Given the description of an element on the screen output the (x, y) to click on. 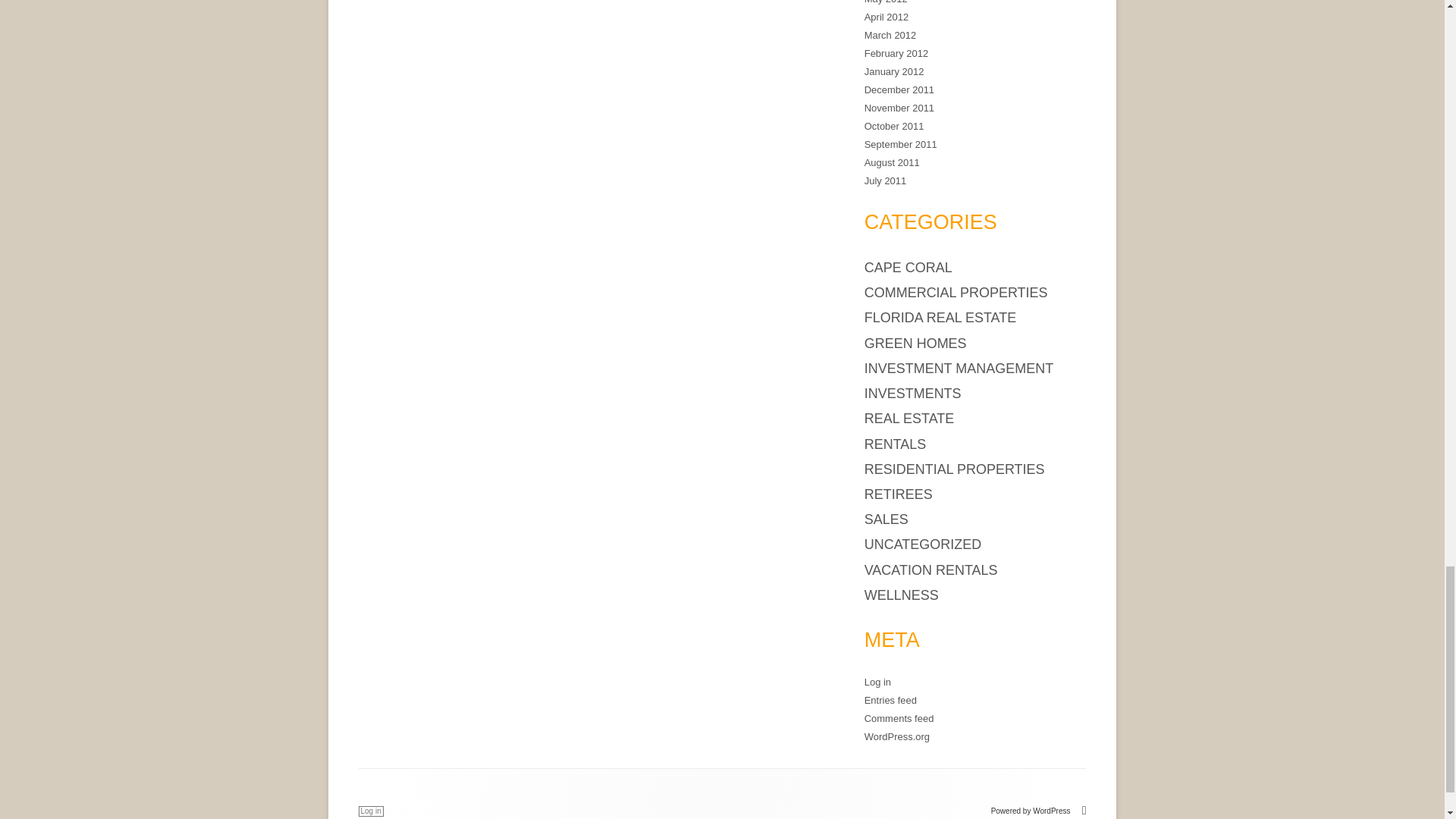
Semantic Personal Publishing Platform (1038, 810)
